Given the description of an element on the screen output the (x, y) to click on. 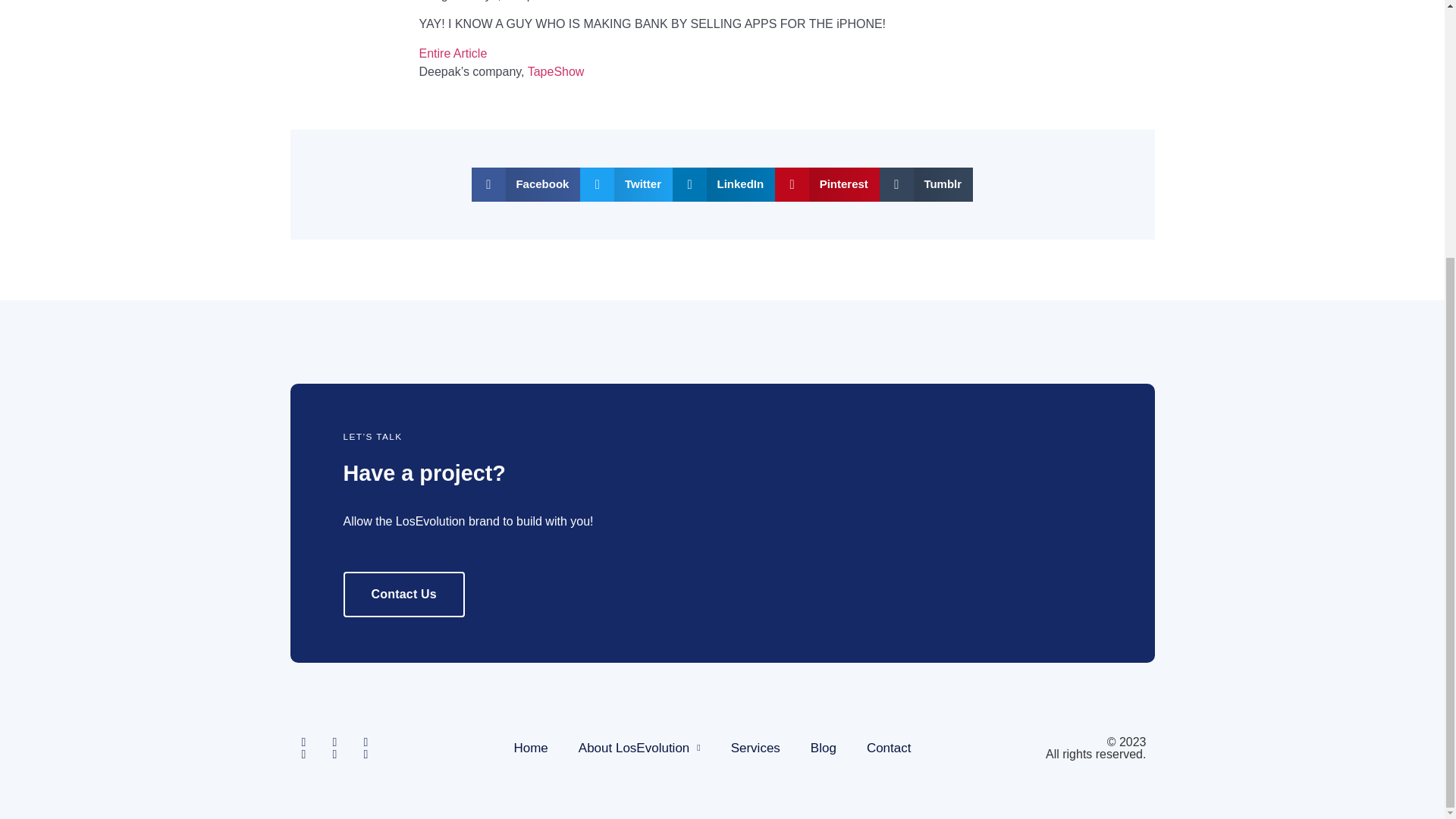
About LosEvolution (639, 748)
Entire Article (452, 52)
Contact Us (403, 594)
Blog (822, 748)
TapeShow (556, 71)
Services (755, 748)
Home (529, 748)
Contact (888, 748)
